Given the description of an element on the screen output the (x, y) to click on. 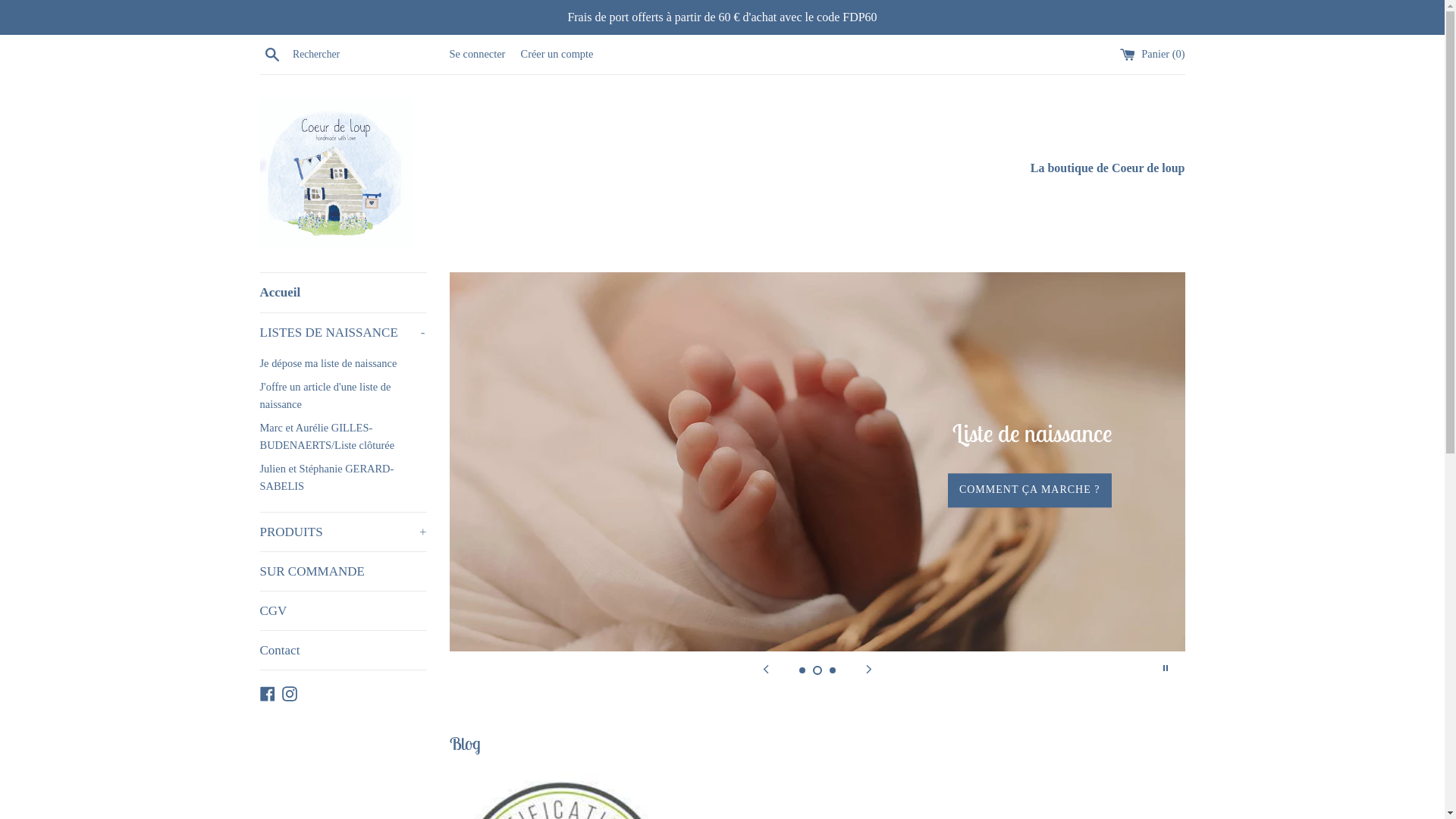
Panier (0) Element type: text (1152, 53)
J'offre un article d'une liste de naissance Element type: text (342, 395)
2 Element type: text (817, 669)
PRODUITS
+ Element type: text (342, 531)
Accueil Element type: text (342, 292)
Se connecter Element type: text (476, 53)
Facebook Element type: text (266, 691)
Contact Element type: text (342, 649)
CGV Element type: text (342, 610)
SUR COMMANDE Element type: text (342, 571)
Recherche Element type: text (271, 53)
LISTES DE NAISSANCE
- Element type: text (342, 332)
1 Element type: text (801, 669)
3 Element type: text (832, 669)
Instagram Element type: text (289, 691)
